Given the description of an element on the screen output the (x, y) to click on. 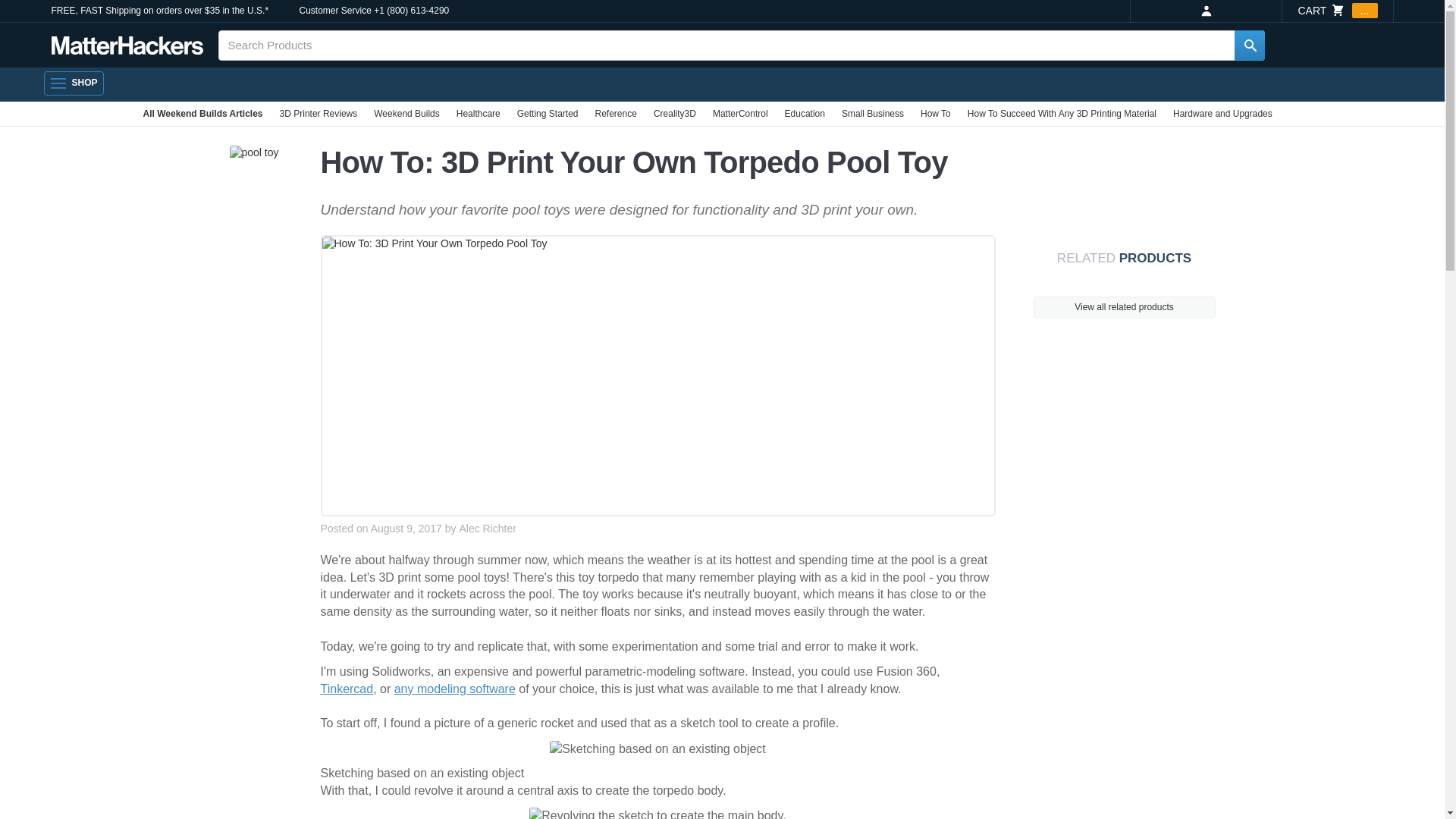
CART ... (1337, 11)
SHOP (73, 83)
pool toy (253, 152)
Revolving the sketch to create the main body. (657, 813)
MatterHackers (126, 45)
Sketching based on an existing object (657, 749)
Customer Service (334, 10)
